Given the description of an element on the screen output the (x, y) to click on. 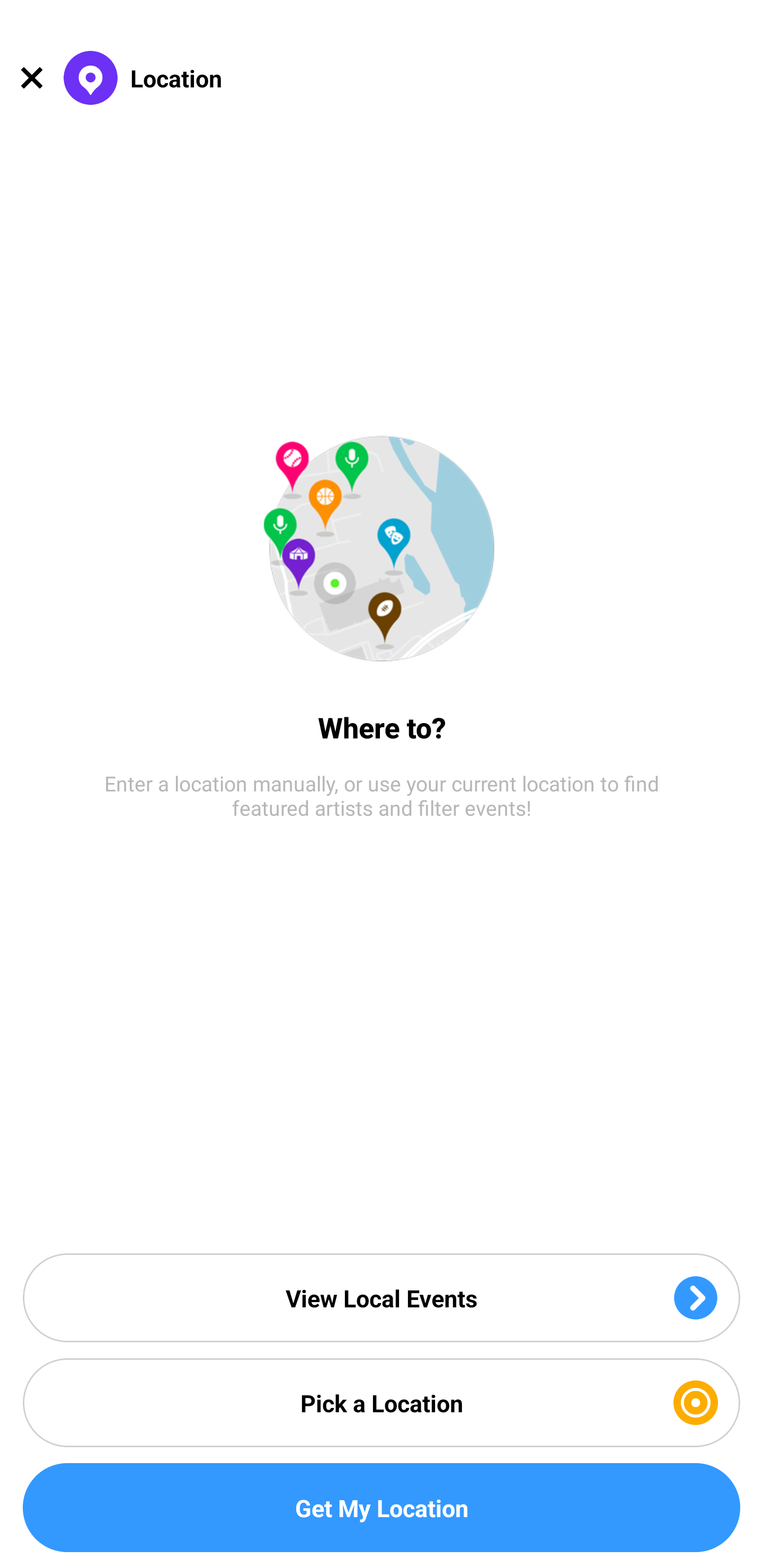
View Local Events (381, 1297)
Pick a Location (381, 1402)
Get My Location (381, 1507)
